Given the description of an element on the screen output the (x, y) to click on. 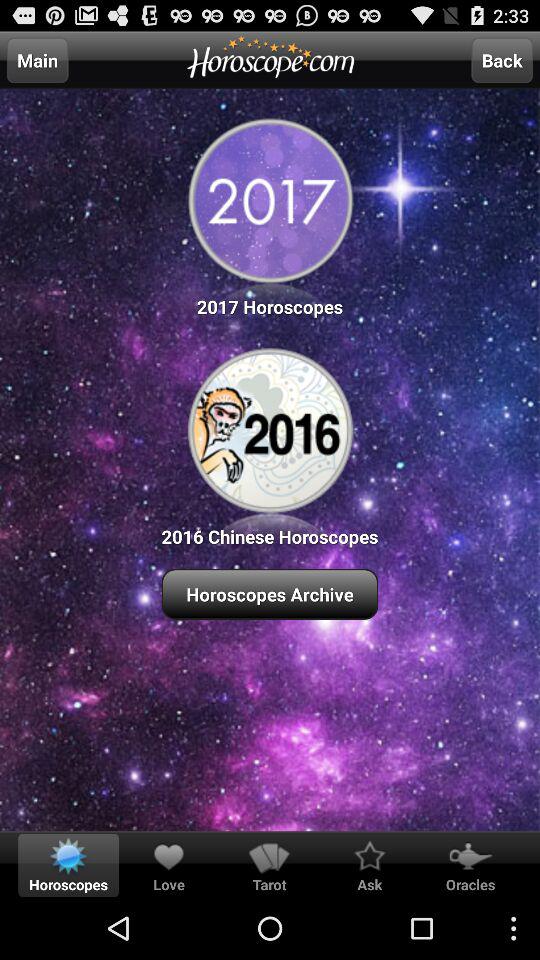
swipe until the back (502, 60)
